Given the description of an element on the screen output the (x, y) to click on. 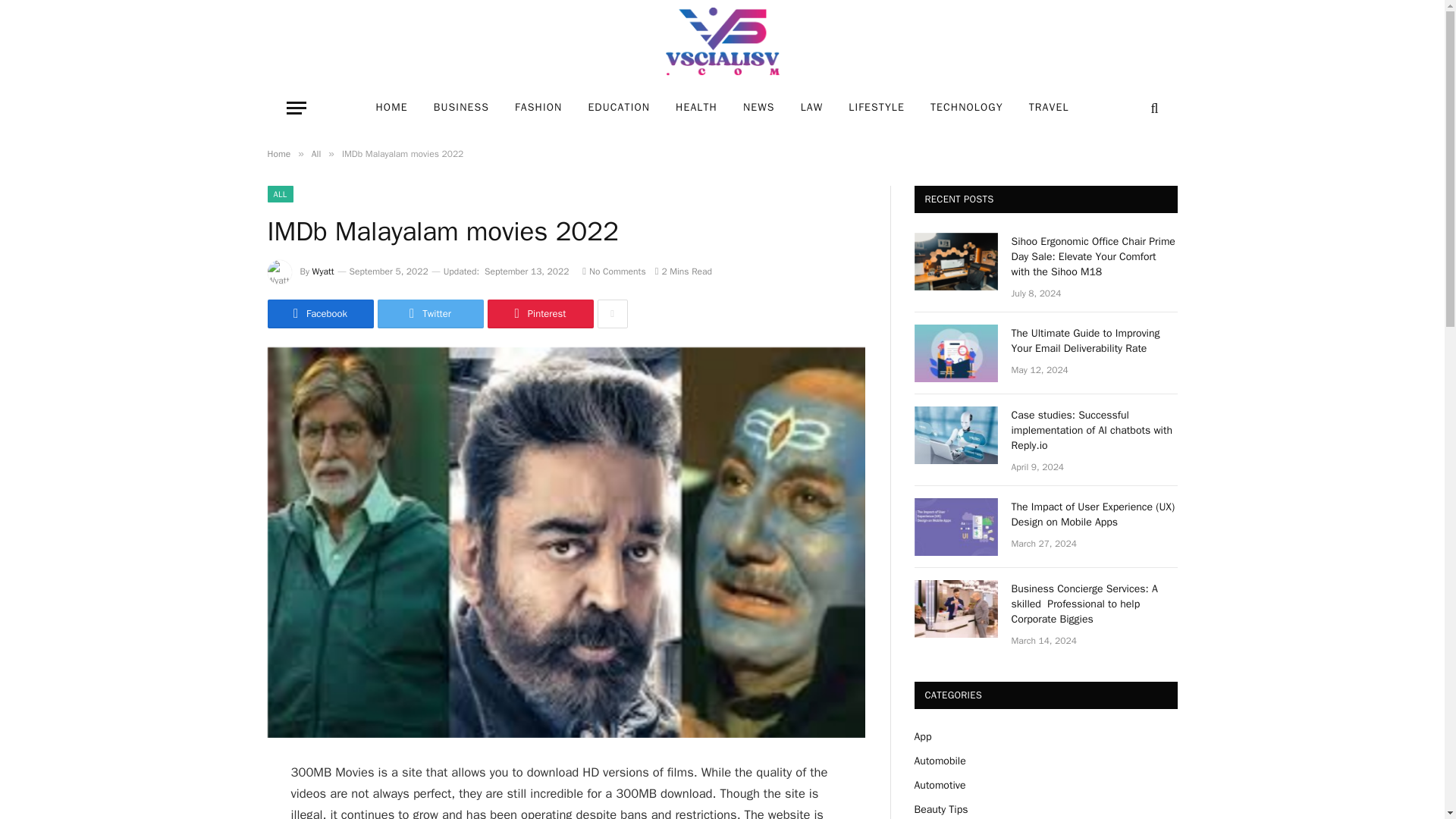
ALL (279, 193)
LIFESTYLE (876, 107)
Share on Pinterest (539, 313)
BUSINESS (461, 107)
Vscialisv.com (722, 41)
Wyatt (323, 271)
Facebook (319, 313)
Pinterest (539, 313)
Twitter (430, 313)
EDUCATION (618, 107)
NEWS (758, 107)
TECHNOLOGY (966, 107)
No Comments (613, 271)
Show More Social Sharing (611, 313)
FASHION (538, 107)
